Given the description of an element on the screen output the (x, y) to click on. 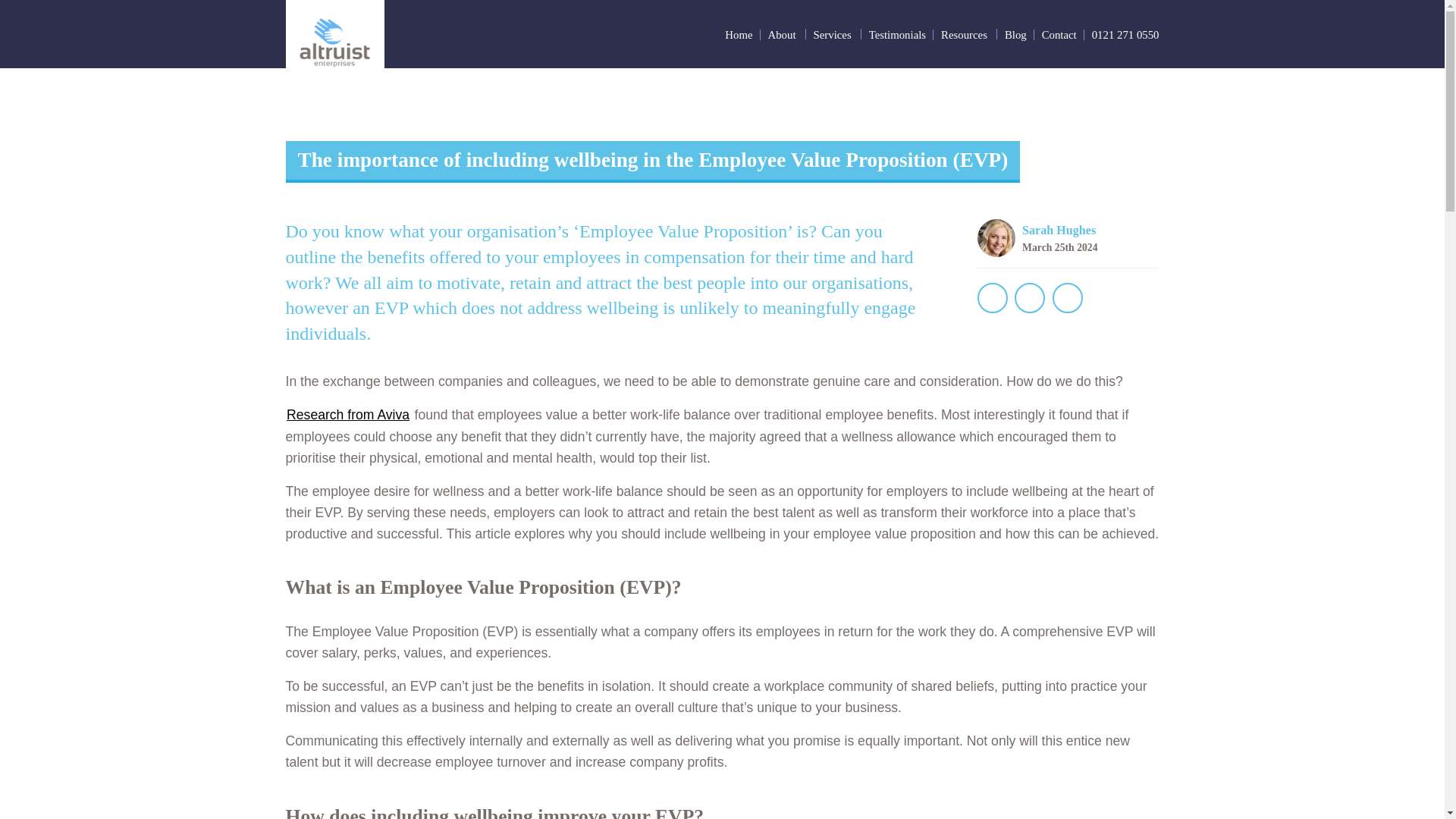
Research from Aviva (347, 414)
Blog (1015, 34)
Share via Facebook (991, 297)
Share via Email (1067, 297)
Contact (1059, 34)
0121 271 0550 (1125, 34)
Share via Twitter (1029, 297)
Services (833, 33)
Resources (965, 33)
About (782, 33)
Home (738, 34)
Testimonials (897, 34)
